Given the description of an element on the screen output the (x, y) to click on. 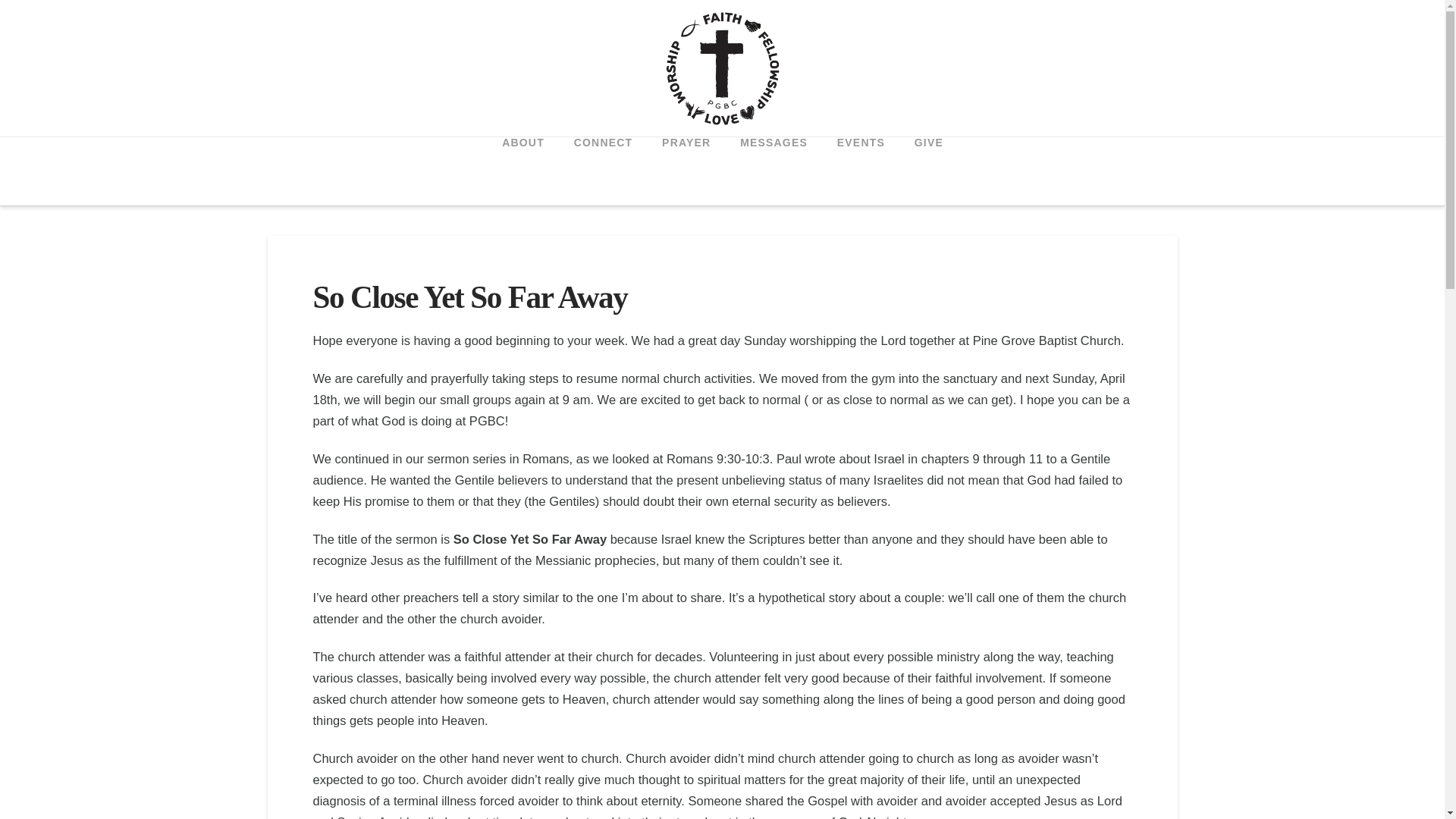
PRAYER (685, 171)
EVENTS (860, 171)
MESSAGES (773, 171)
ABOUT (522, 171)
CONNECT (602, 171)
